Given the description of an element on the screen output the (x, y) to click on. 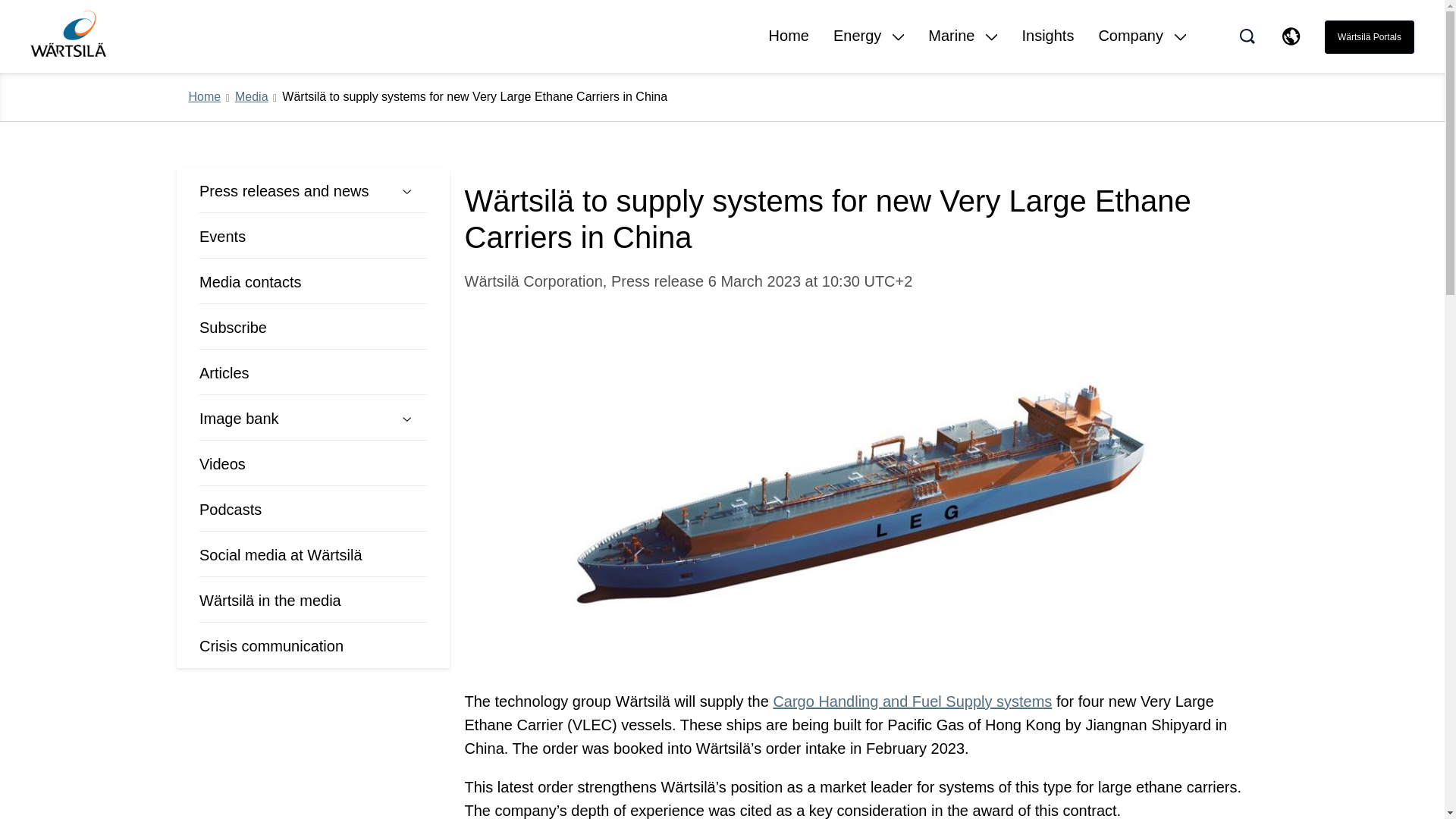
Crisis communication (289, 646)
Articles (289, 372)
Marine (962, 48)
Energy (868, 48)
Cargo Handling and Fuel Supply systems (912, 701)
Events (289, 236)
Subscribe (289, 327)
Image bank (289, 418)
Podcasts (289, 509)
Select country (1291, 36)
